Given the description of an element on the screen output the (x, y) to click on. 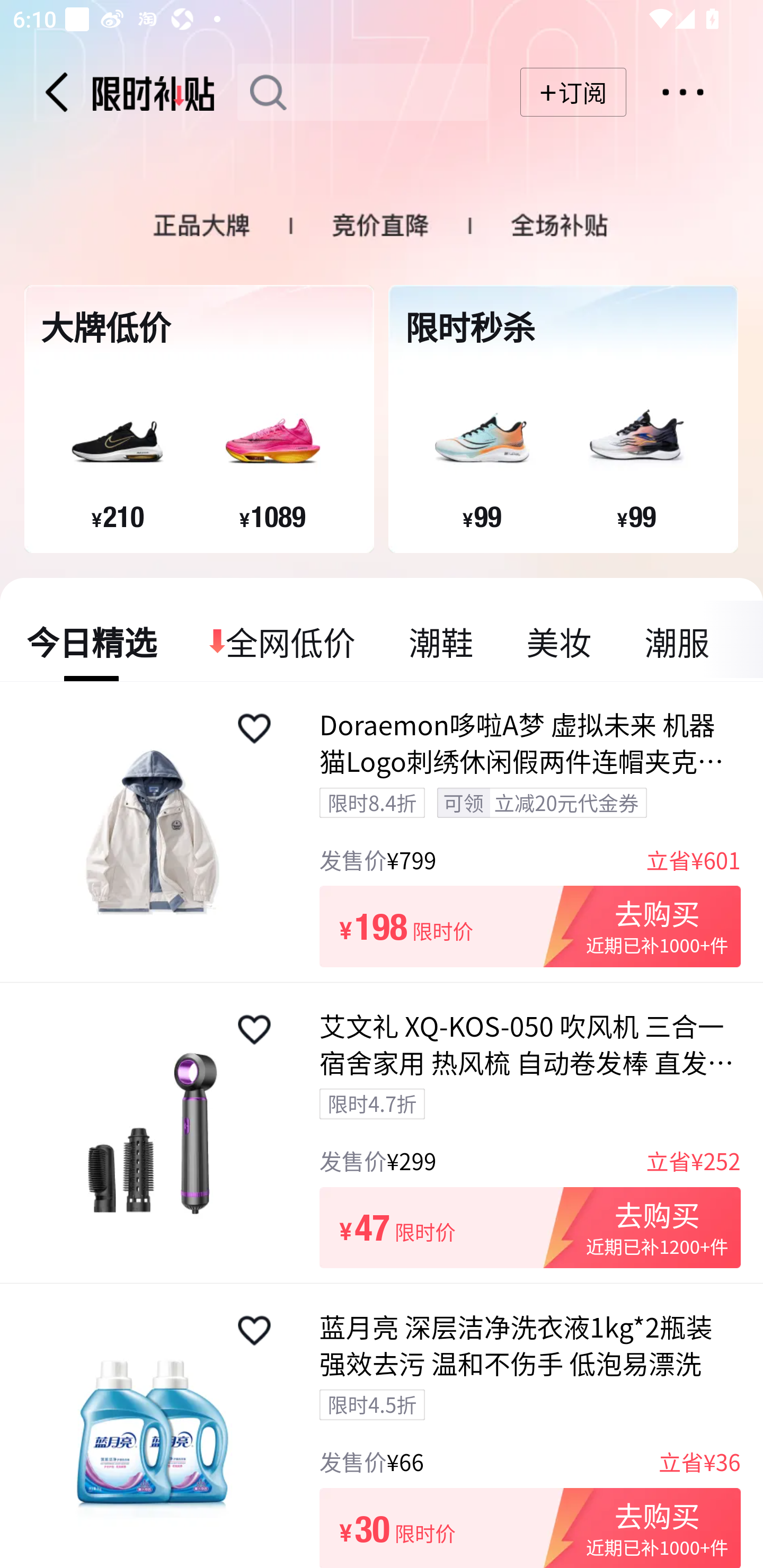
+订阅 (572, 92)
resize,w_152 ¥210 (117, 443)
resize,w_152 ¥1089 (271, 443)
resize,w_152 ¥99 (481, 443)
resize,w_152 ¥99 (636, 443)
¥210 (118, 516)
¥1089 (272, 516)
¥99 (482, 516)
¥99 (636, 516)
今日精选 (92, 640)
9e7fc8ca-86cd-3a08-4a56-57b9d219ca85-30-45 全网低价 (283, 640)
潮鞋 (440, 640)
美妆 (558, 640)
潮服 (676, 640)
resize,w_60 (254, 728)
resize,w_60 (254, 1030)
resize,w_60 (254, 1331)
